Given the description of an element on the screen output the (x, y) to click on. 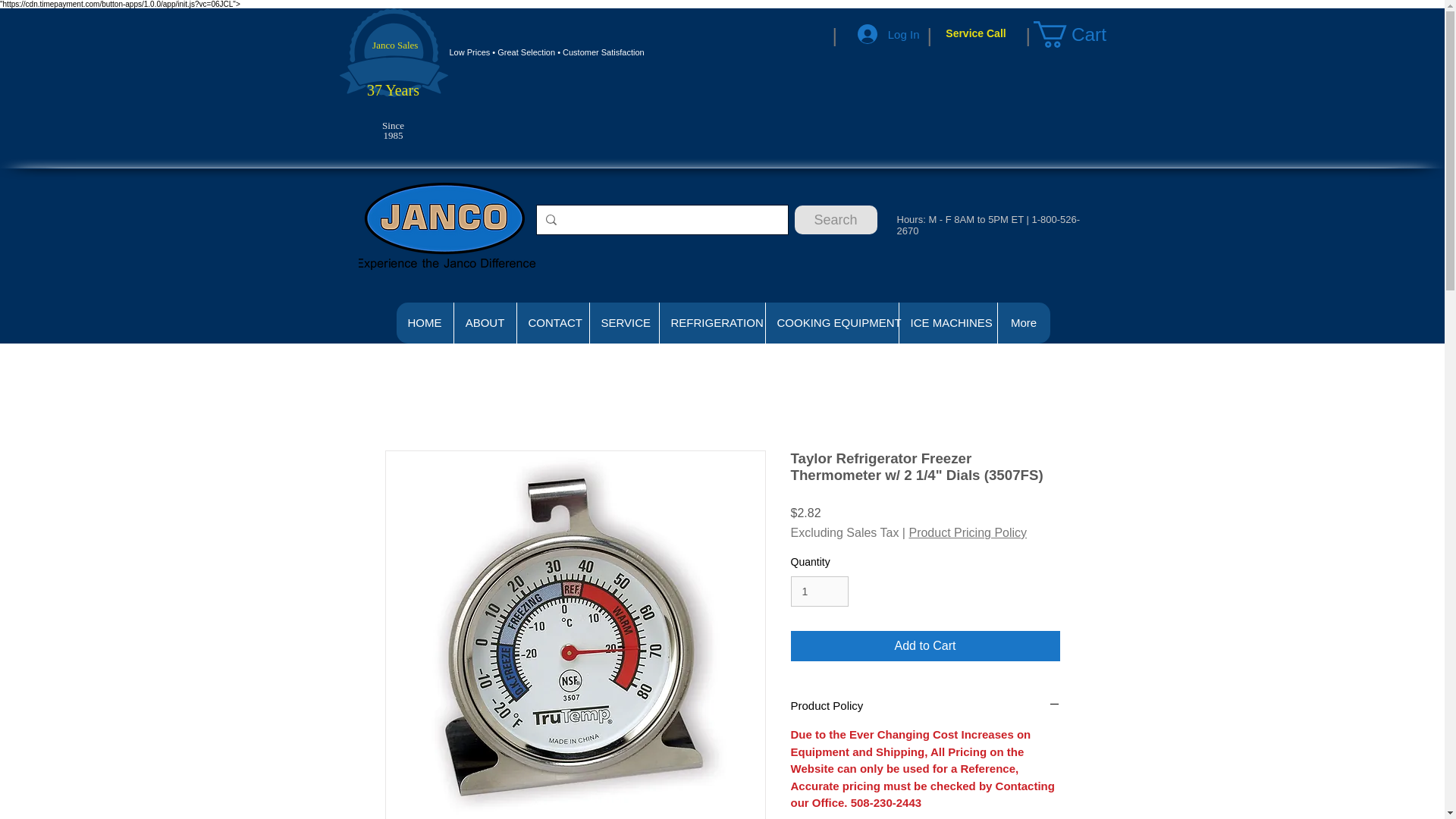
Search (835, 219)
ABOUT (484, 322)
1 (818, 591)
Product Policy (924, 705)
Cart (1082, 34)
Log In (888, 33)
Cart (1082, 34)
HOME (424, 322)
Add to Cart (924, 645)
SERVICE (623, 322)
